Given the description of an element on the screen output the (x, y) to click on. 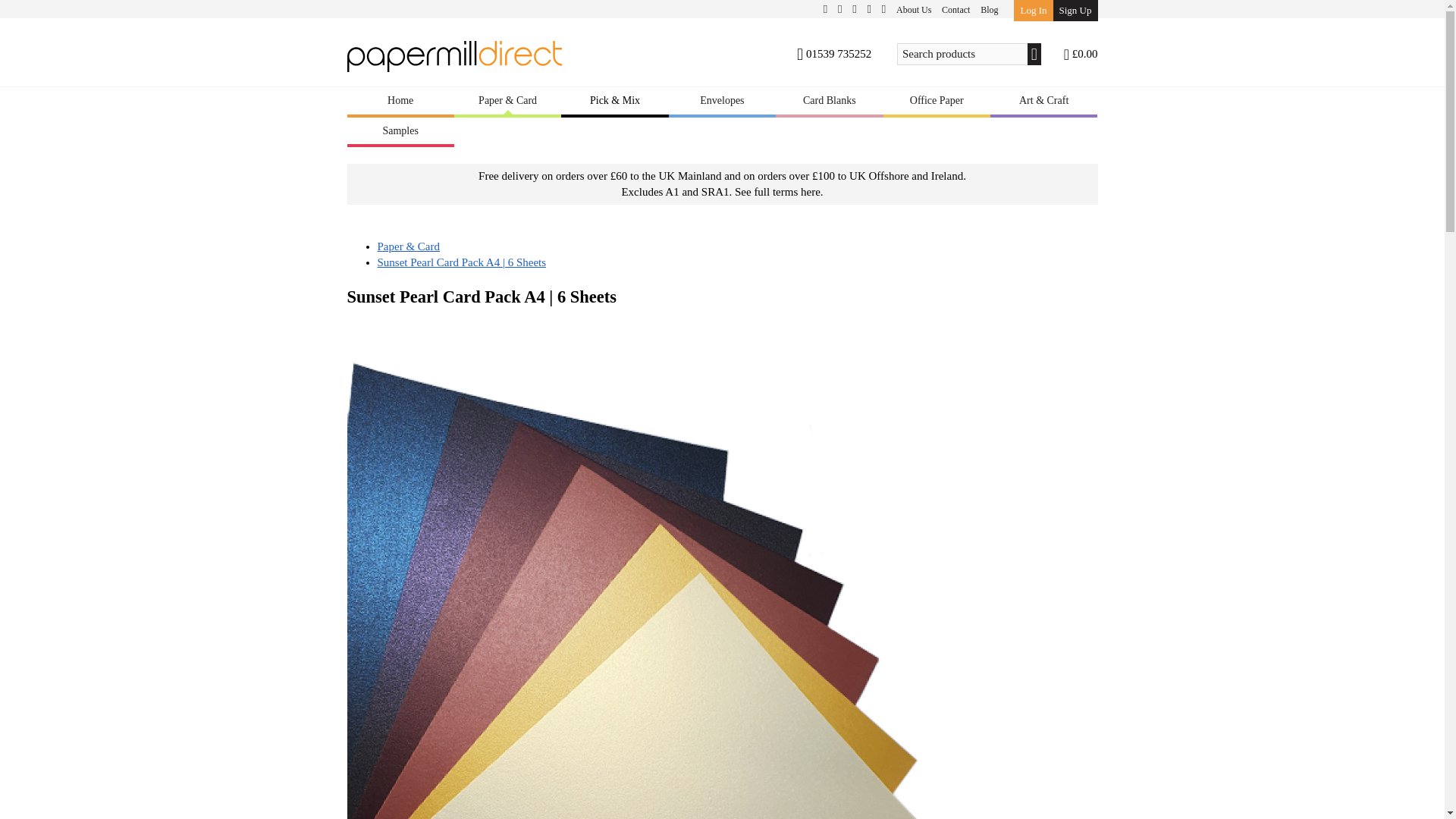
Log In (1032, 10)
Contact (955, 9)
Papermill home page (454, 61)
01539 735252 (837, 53)
Blog (988, 9)
Sign Up (1074, 10)
Home (400, 101)
About Us (913, 9)
